Given the description of an element on the screen output the (x, y) to click on. 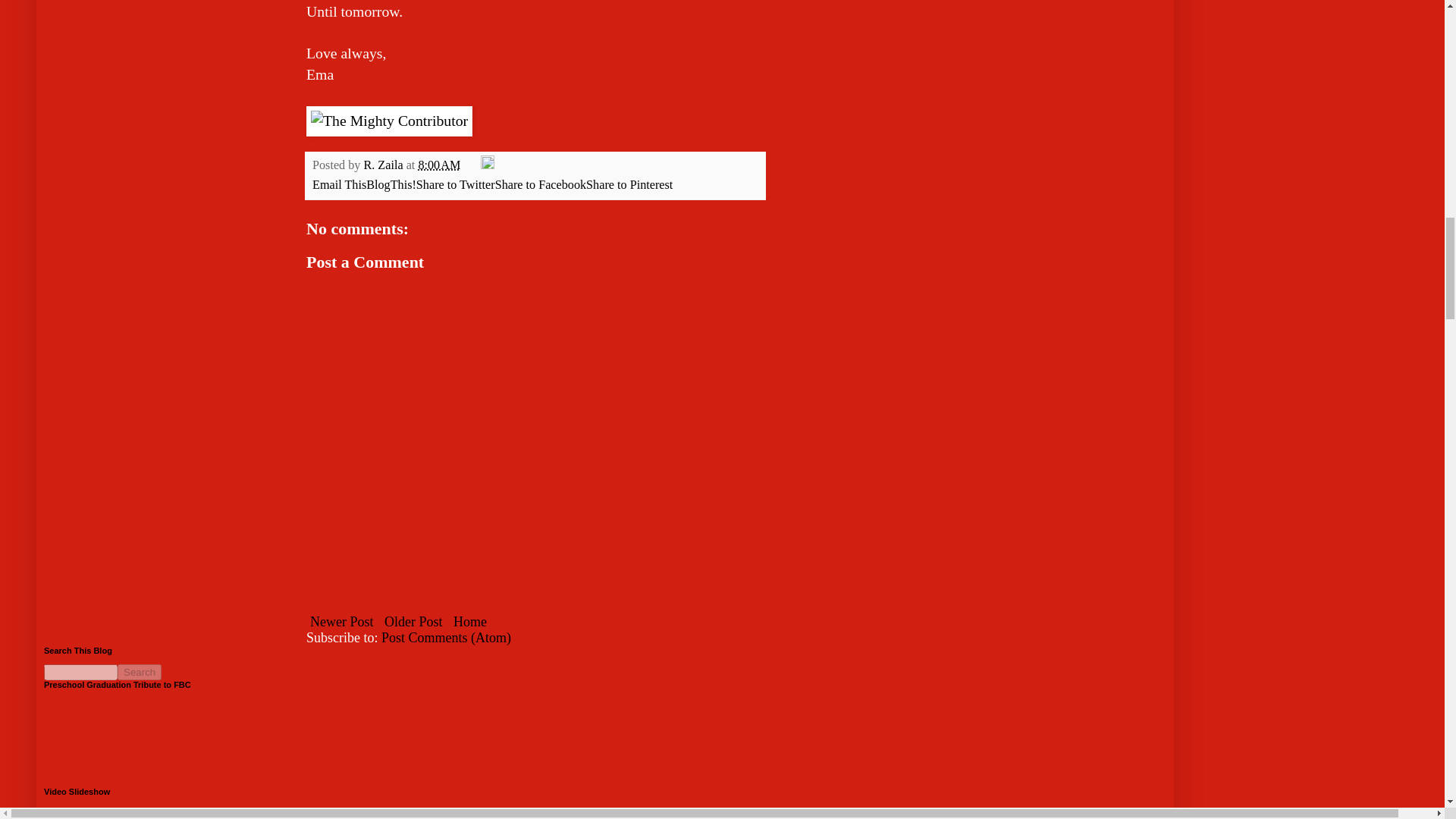
Email This (339, 184)
Search (139, 672)
search (80, 672)
Share to Twitter (455, 184)
Share to Pinterest (629, 184)
Share to Pinterest (629, 184)
Edit Post (487, 164)
permanent link (438, 164)
Newer Post (341, 621)
BlogThis! (391, 184)
search (139, 672)
Share to Facebook (540, 184)
Email Post (471, 164)
Older Post (413, 621)
